Given the description of an element on the screen output the (x, y) to click on. 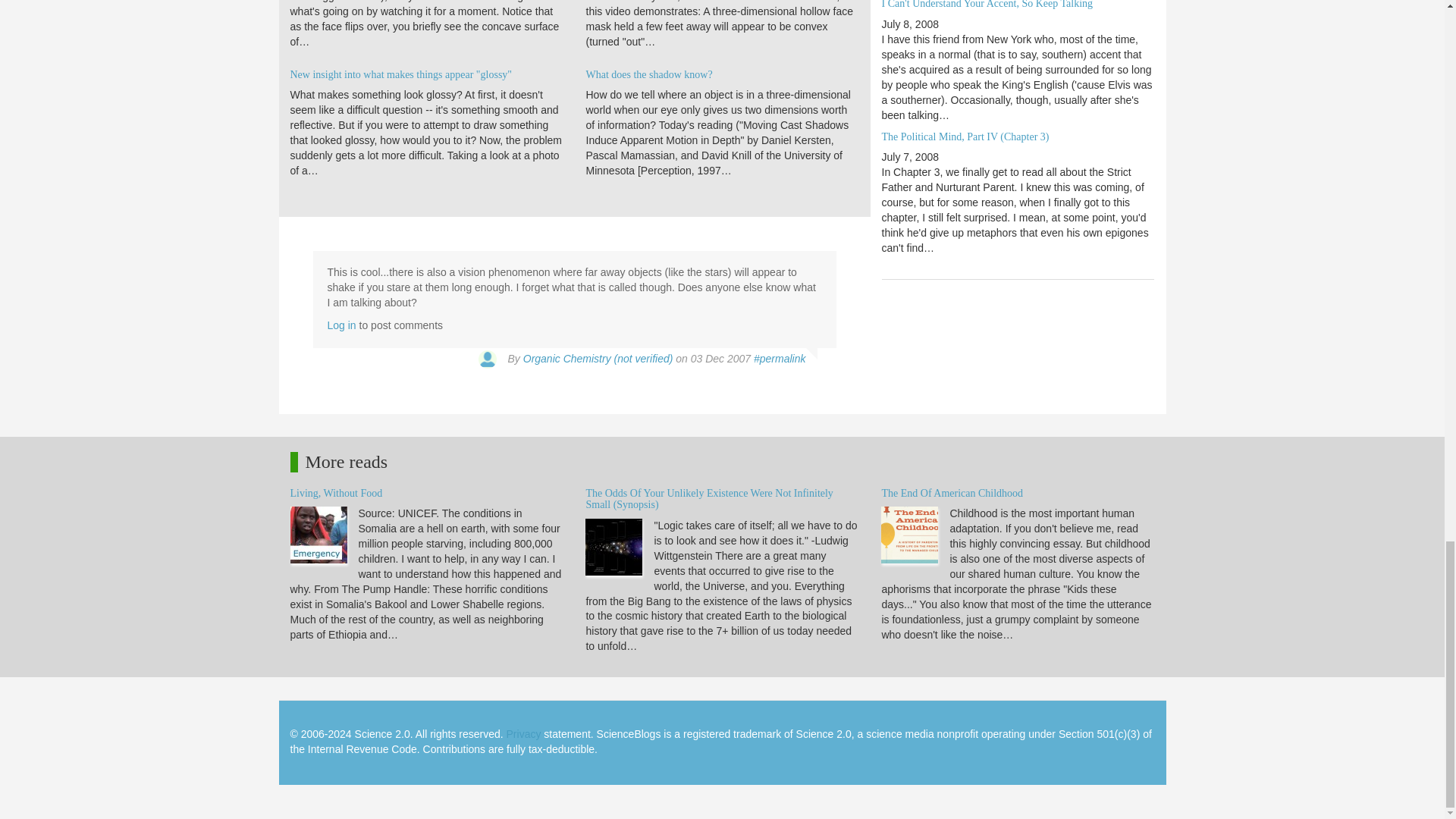
New insight into what makes things appear "glossy" (400, 74)
